Given the description of an element on the screen output the (x, y) to click on. 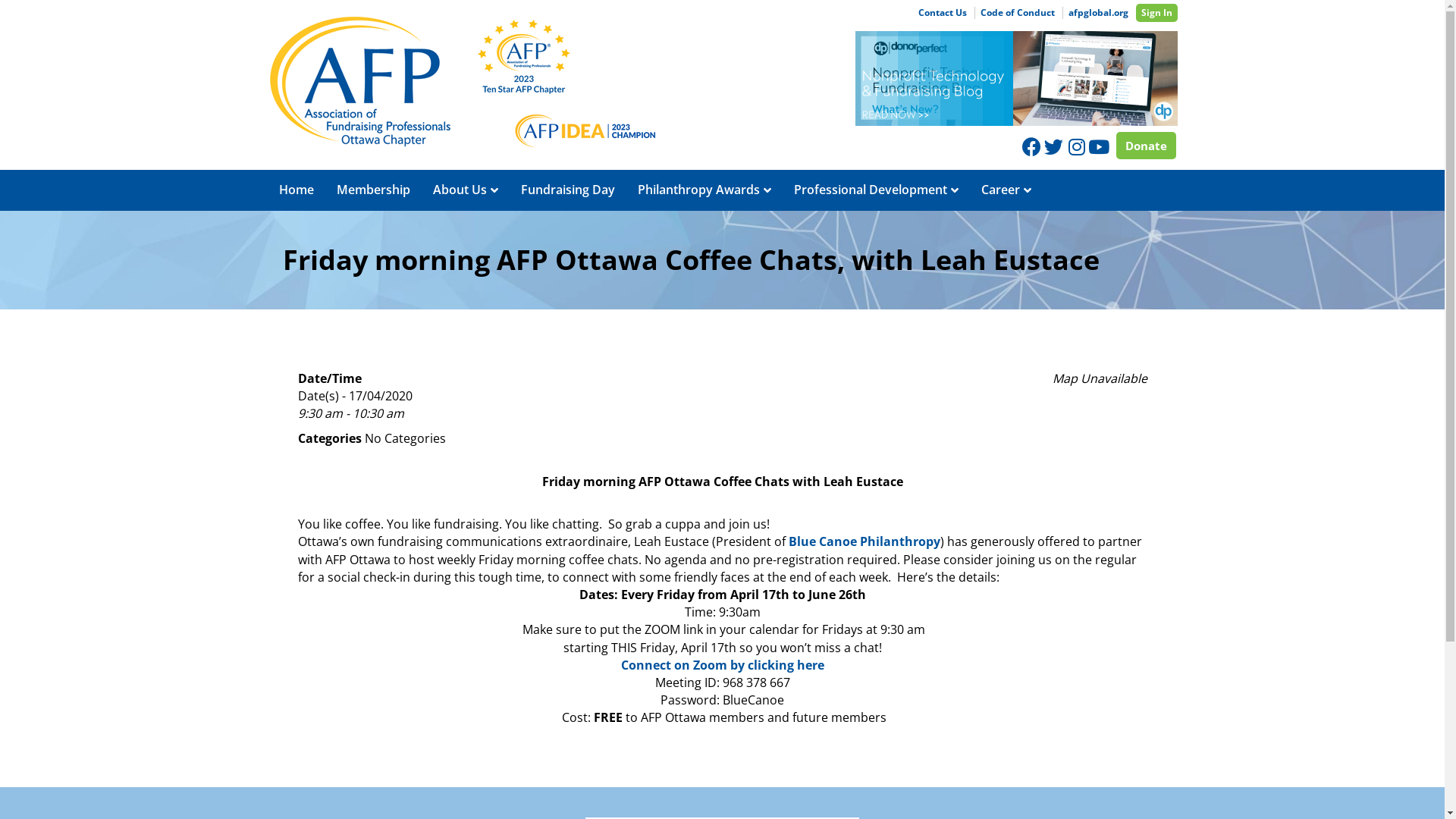
Instagram Element type: text (1075, 146)
Twitter Element type: text (1052, 146)
About Us Element type: text (465, 189)
Career Element type: text (1005, 189)
Donate Element type: text (1146, 145)
Blue Canoe Philanthropy Element type: text (864, 541)
Code of Conduct Element type: text (1016, 12)
Contact Us Element type: text (942, 12)
Membership Element type: text (372, 189)
Connect on Zoom by clicking here Element type: text (721, 664)
Fundraising Day Element type: text (567, 189)
Philanthropy Awards Element type: text (704, 189)
Youtube Element type: text (1096, 146)
Facebook Element type: text (1031, 146)
Sign In Element type: text (1156, 12)
Home Element type: text (295, 189)
Professional Development Element type: text (875, 189)
afpglobal.org Element type: text (1096, 12)
